Given the description of an element on the screen output the (x, y) to click on. 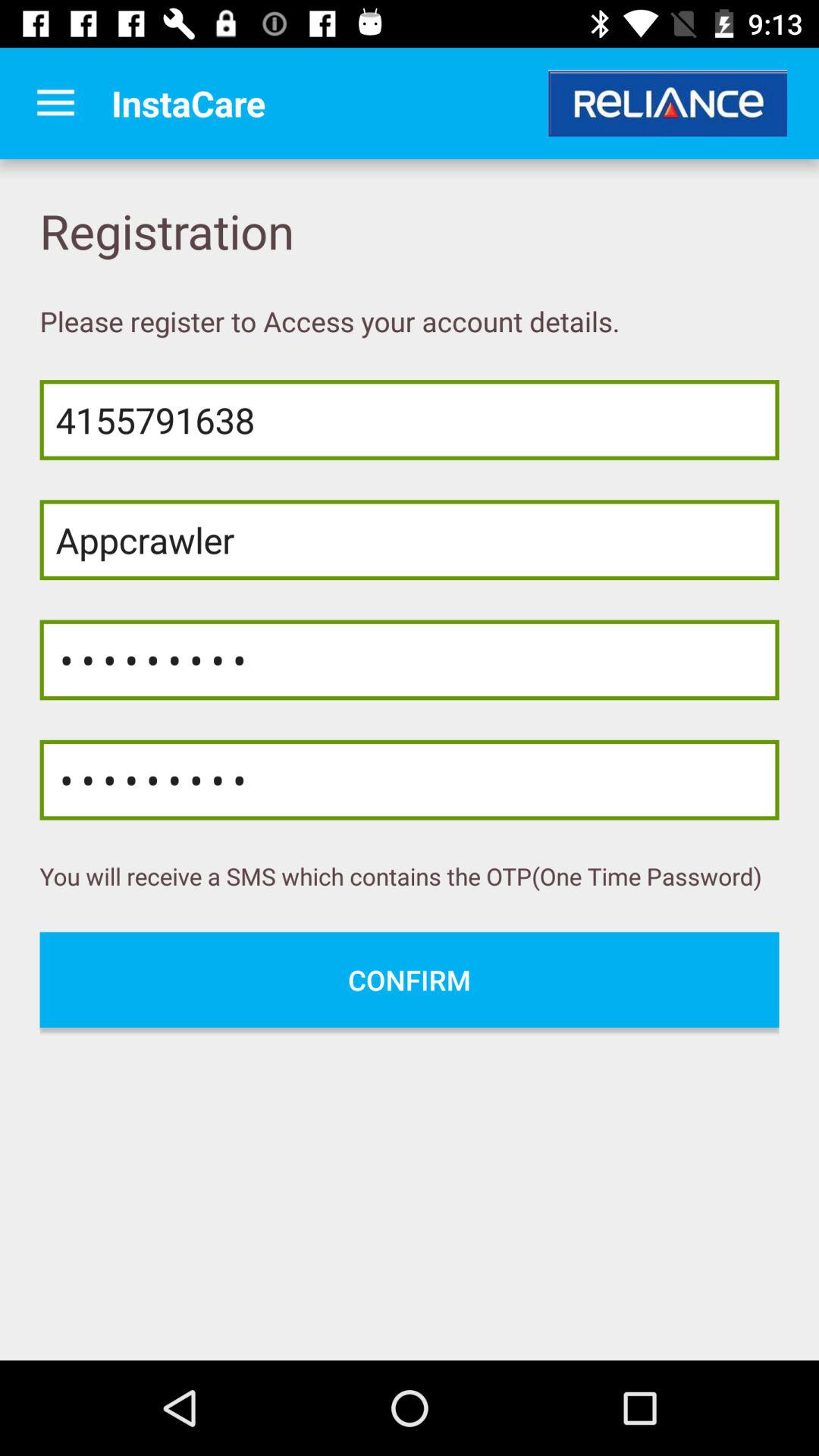
select item below the please register to item (409, 419)
